Given the description of an element on the screen output the (x, y) to click on. 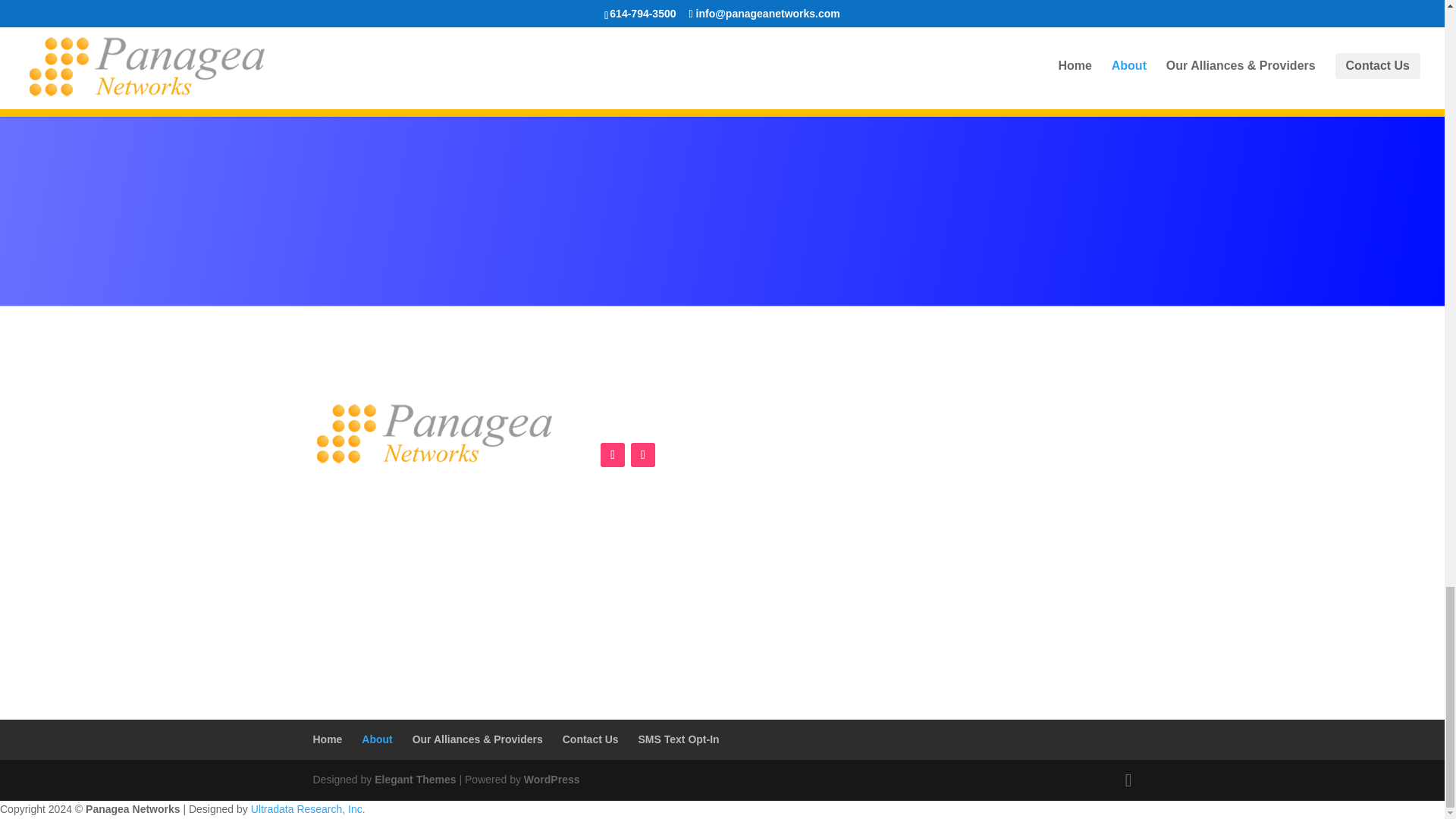
About (376, 739)
SMS Text Opt-In (679, 739)
WordPress (551, 779)
Contact Us (590, 739)
Elegant Themes (414, 779)
Ultradata Research, Inc. (307, 808)
Home (327, 739)
